Given the description of an element on the screen output the (x, y) to click on. 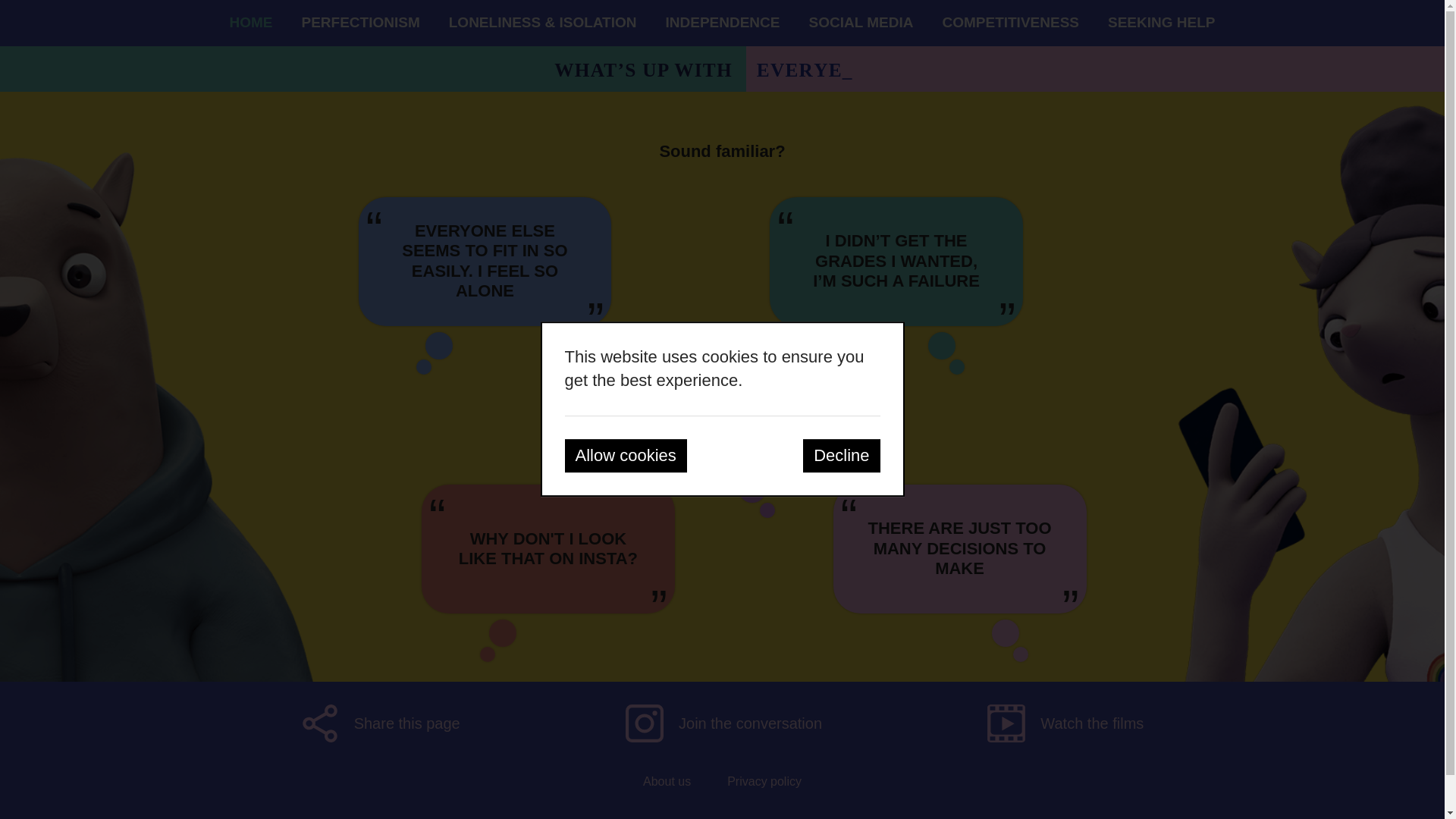
Allow cookies (624, 455)
About us (666, 780)
INDEPENDENCE (722, 23)
Decline (841, 455)
SOCIAL MEDIA (860, 23)
THERE ARE JUST TOO MANY DECISIONS TO MAKE (959, 548)
Join the conversation (724, 723)
COMPETITIVENESS (1010, 23)
WHY DON'T I LOOK LIKE THAT ON INSTA? (548, 549)
HOME (250, 23)
